Given the description of an element on the screen output the (x, y) to click on. 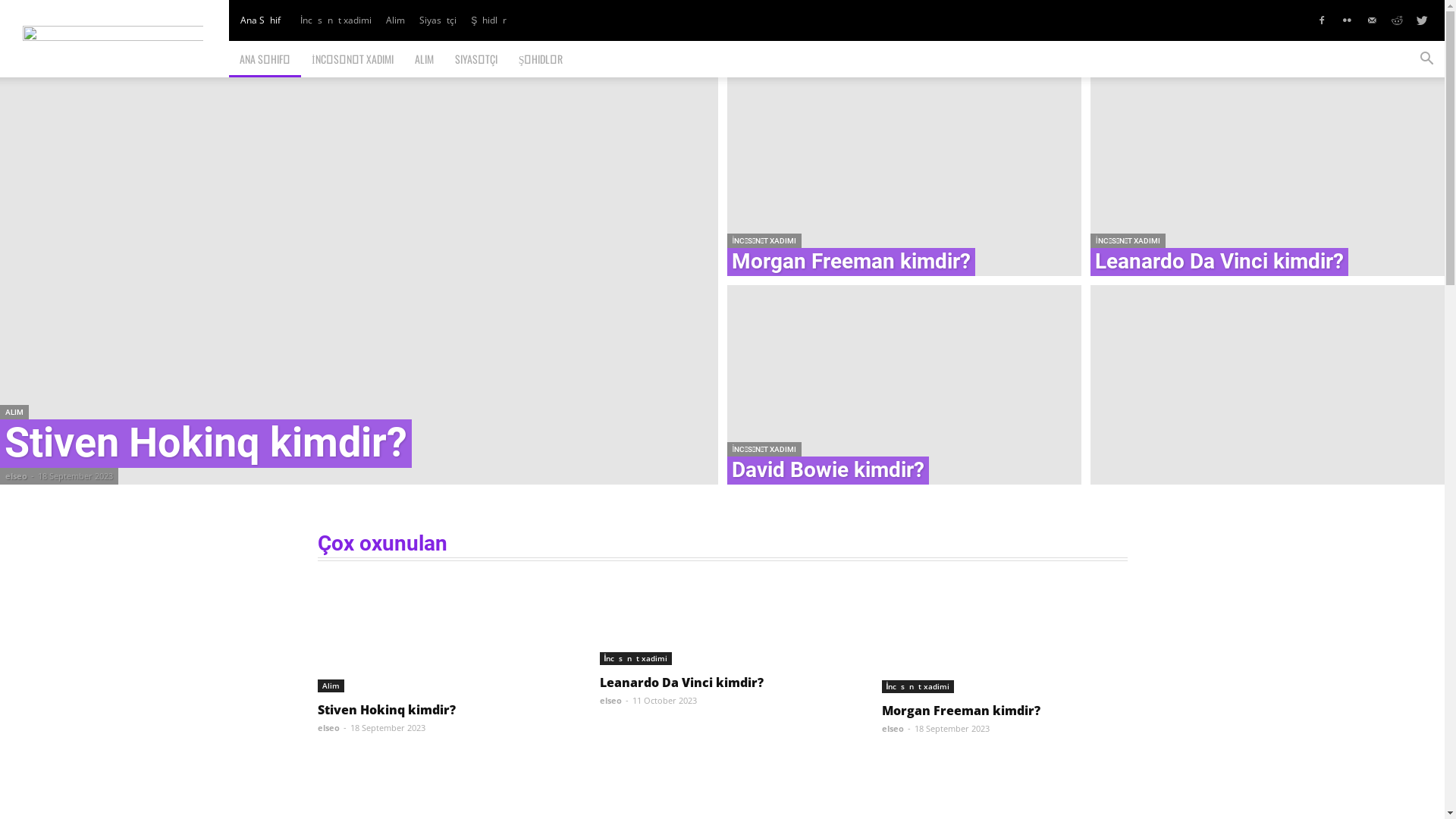
Stiven Hokinq kimdir? Element type: text (385, 709)
Stiven Hokinq kimdir? Element type: hover (439, 636)
Mail Element type: hover (1371, 20)
Alim Element type: text (394, 19)
Reddit Element type: hover (1396, 20)
Stiven Hokinq kimdir? Element type: text (205, 442)
Morgan Freeman kimdir? Element type: text (960, 710)
elseo Element type: text (327, 727)
Facebook Element type: hover (1321, 20)
ALIM Element type: text (14, 411)
David Bowie kimdir? Element type: text (827, 469)
elseo Element type: text (892, 728)
Leanardo Da Vinci kimdir? Element type: hover (1267, 174)
Stiven Hokinq kimdir? Element type: hover (359, 280)
Flickr Element type: hover (1346, 20)
Morgan Freeman kimdir? Element type: text (850, 260)
Morgan Freeman kimdir? Element type: hover (1003, 636)
Leanardo Da Vinci kimdir? Element type: text (680, 682)
elseo Element type: text (610, 700)
Morgan Freeman kimdir? Element type: hover (903, 174)
Leanardo Da Vinci kimdir? Element type: text (1219, 260)
Alim Element type: text (329, 685)
David Bowie kimdir? Element type: hover (903, 386)
ALIM Element type: text (424, 58)
Twitter Element type: hover (1421, 20)
Leanardo Da Vinci kimdir? Element type: hover (721, 622)
elseo Element type: text (16, 475)
